Given the description of an element on the screen output the (x, y) to click on. 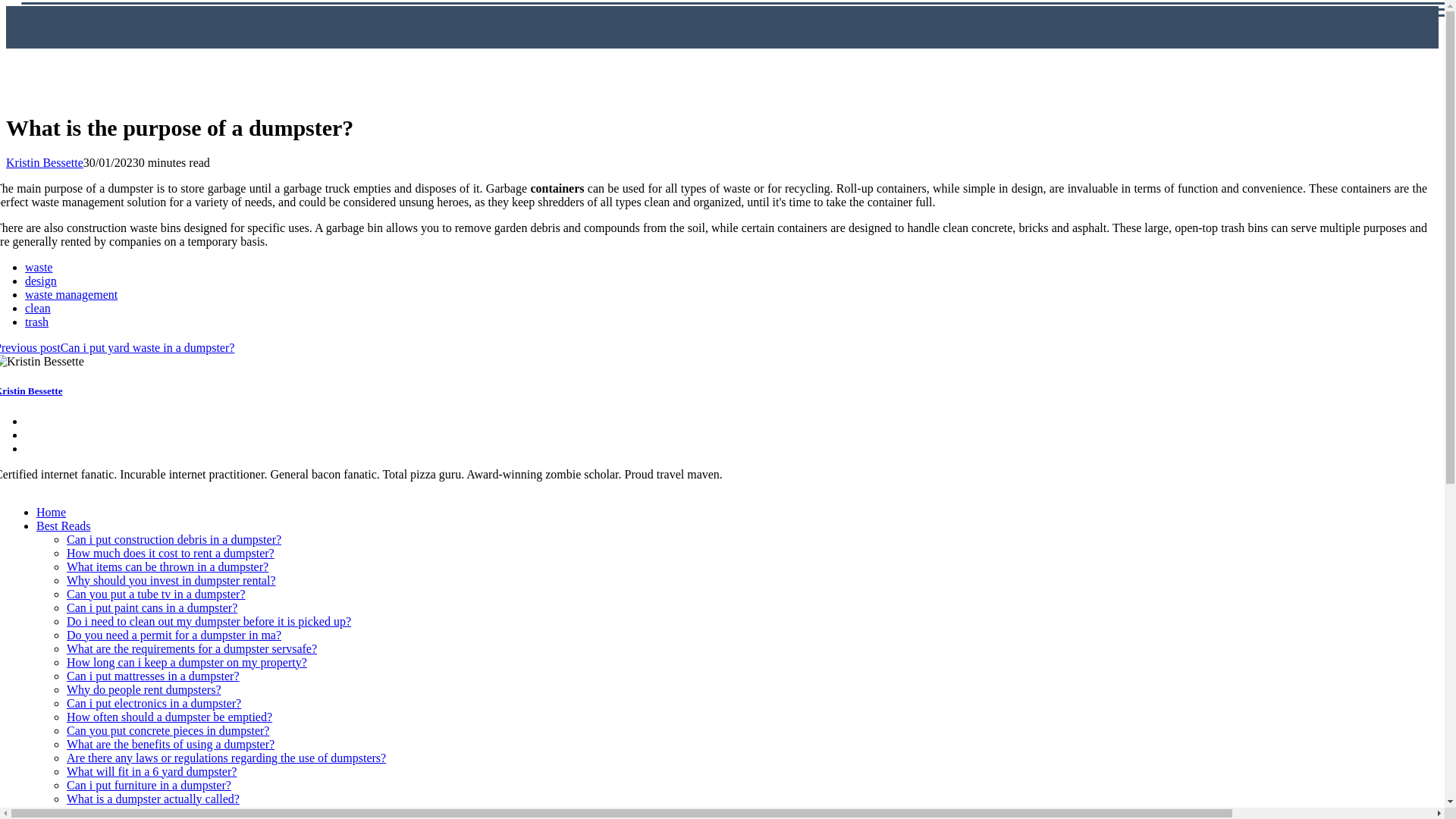
What will fit in a 6 yard dumpster? (150, 771)
Can you put a tube tv in a dumpster? (156, 594)
Posts by Kristin Bessette (43, 162)
What items can be thrown in a dumpster? (166, 566)
clean (37, 308)
Why do people rent dumpsters? (143, 689)
design (40, 280)
Do i need to clean out my dumpster before it is picked up? (208, 621)
Can i put construction debris in a dumpster? (173, 539)
